Given the description of an element on the screen output the (x, y) to click on. 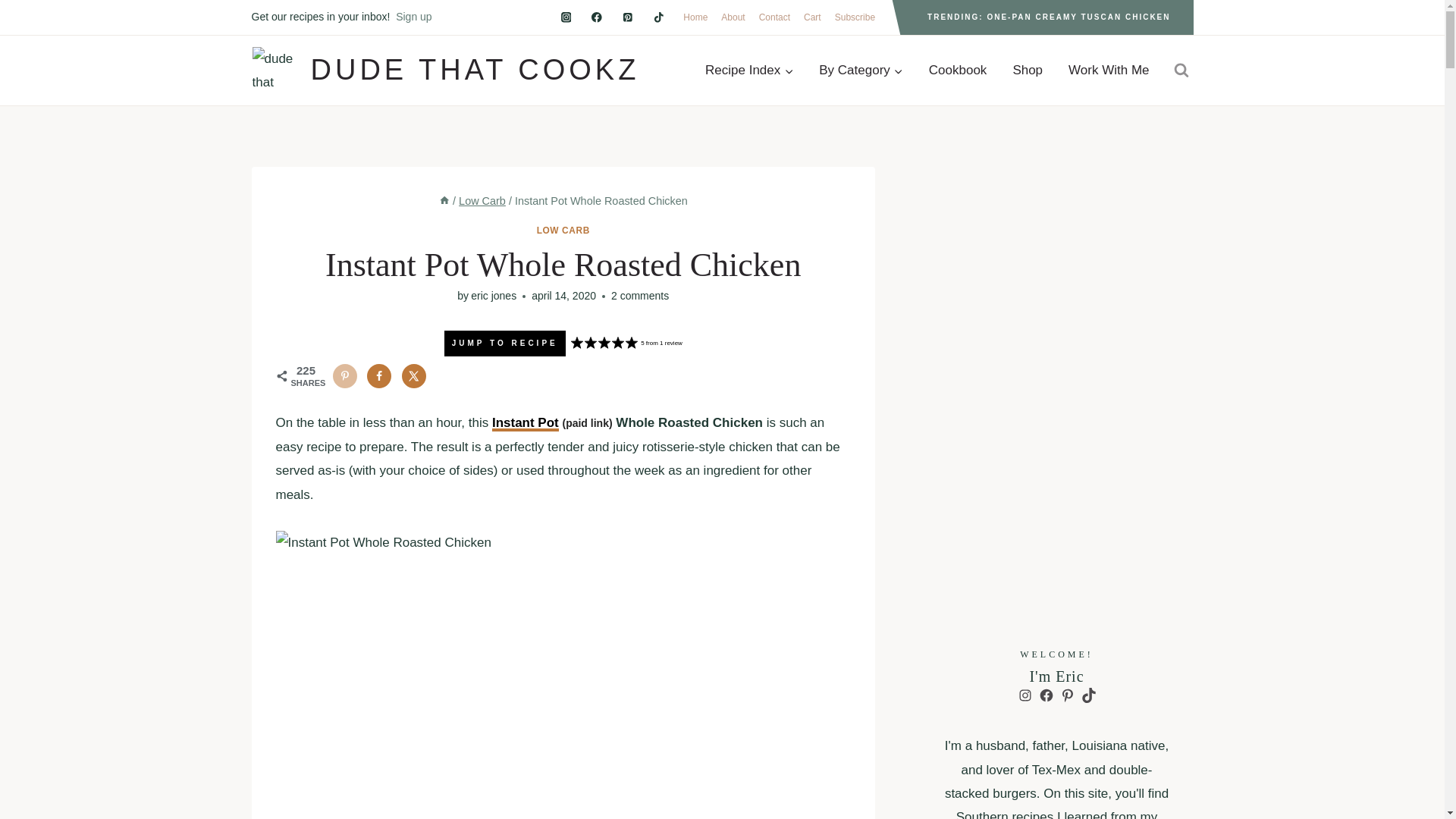
LOW CARB (563, 230)
Shop (1026, 70)
Home (695, 17)
Low Carb (481, 200)
DUDE THAT COOKZ (445, 70)
Cart (812, 17)
Work With Me (1108, 70)
Subscribe (855, 17)
JUMP TO RECIPE (505, 343)
TRENDING: ONE-PAN CREAMY TUSCAN CHICKEN (1048, 17)
